Given the description of an element on the screen output the (x, y) to click on. 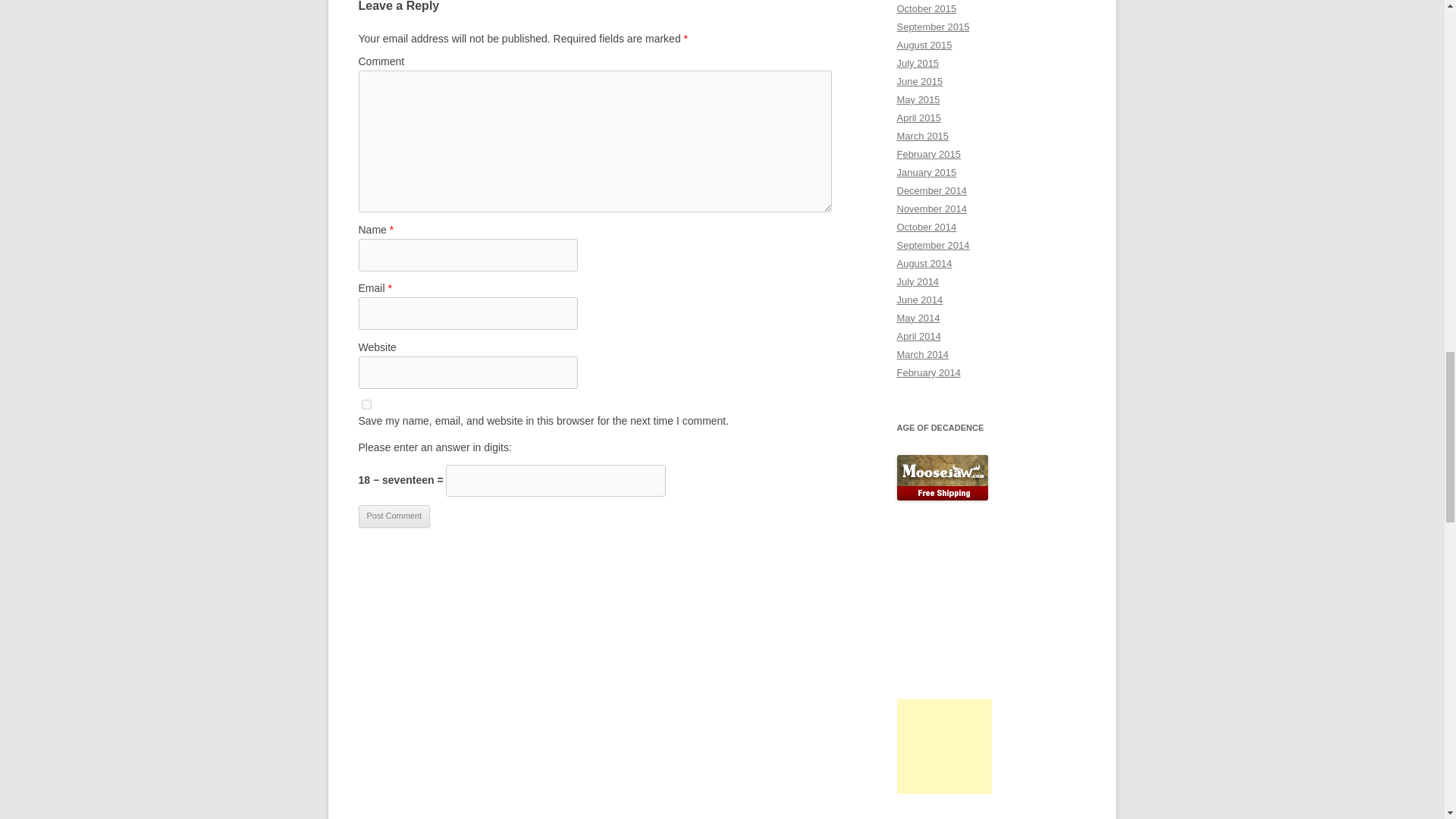
Post Comment (393, 516)
yes (366, 404)
Post Comment (393, 516)
